Given the description of an element on the screen output the (x, y) to click on. 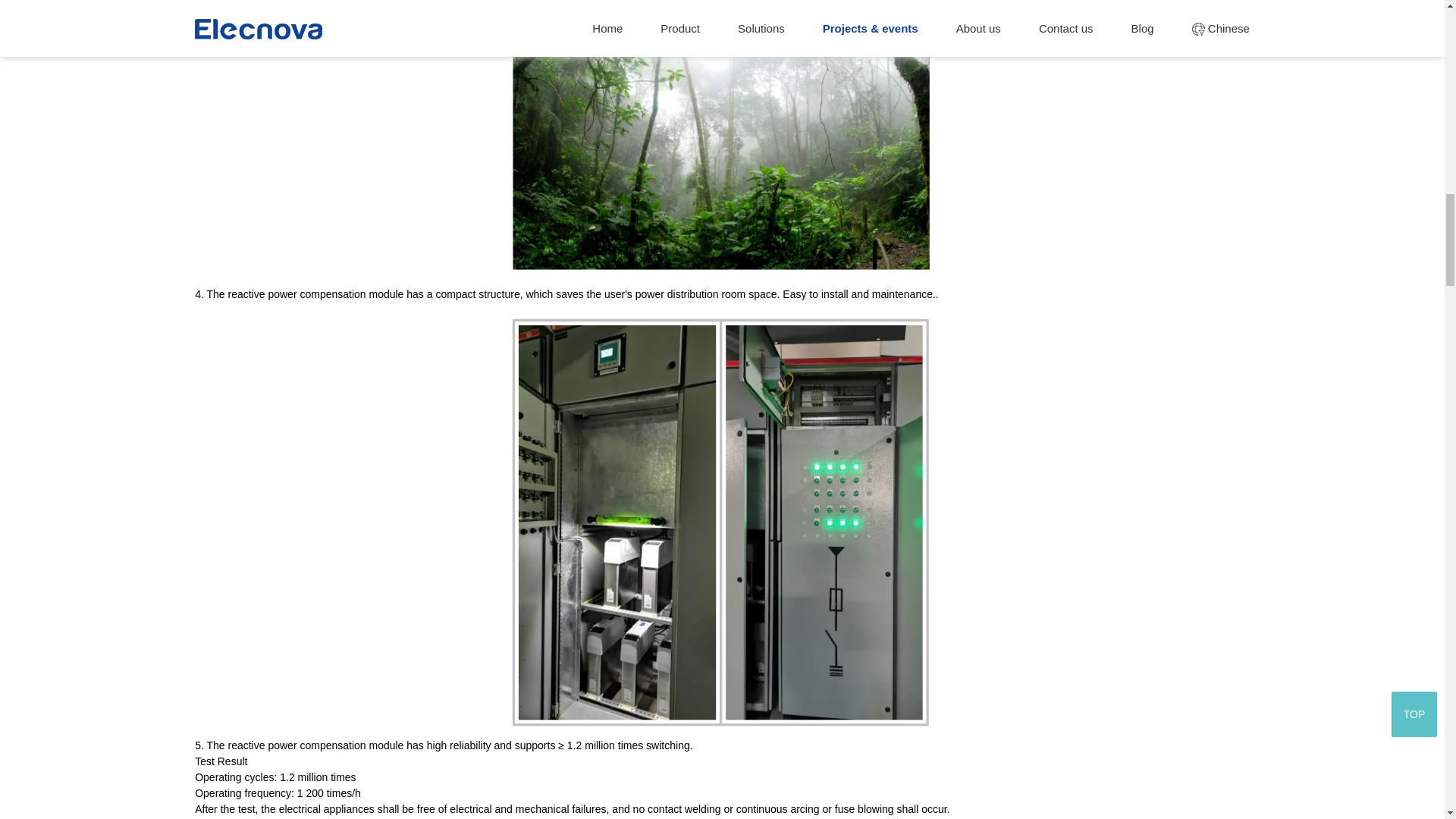
1593766671693061XiuP.png (721, 152)
